Given the description of an element on the screen output the (x, y) to click on. 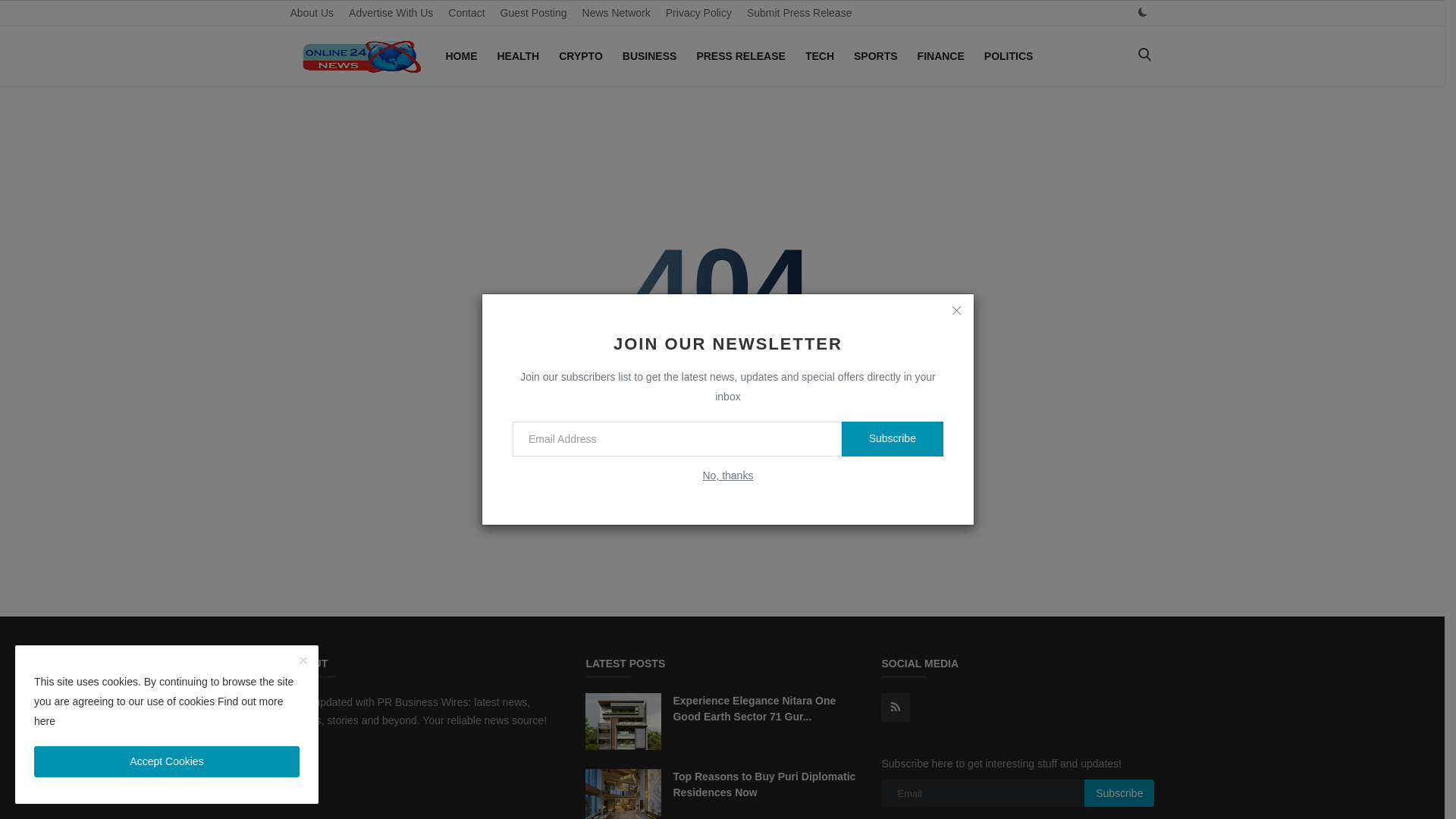
News Network (616, 13)
HEALTH (518, 55)
CRYPTO (580, 55)
Contact (466, 13)
Guest Posting (534, 13)
dark (1141, 12)
SPORTS (875, 55)
Advertise With Us (390, 13)
POLITICS (1008, 55)
HOME (461, 55)
Submit Press Release (799, 13)
Privacy Policy (698, 13)
TECH (819, 55)
BUSINESS (649, 55)
About Us (311, 13)
